Given the description of an element on the screen output the (x, y) to click on. 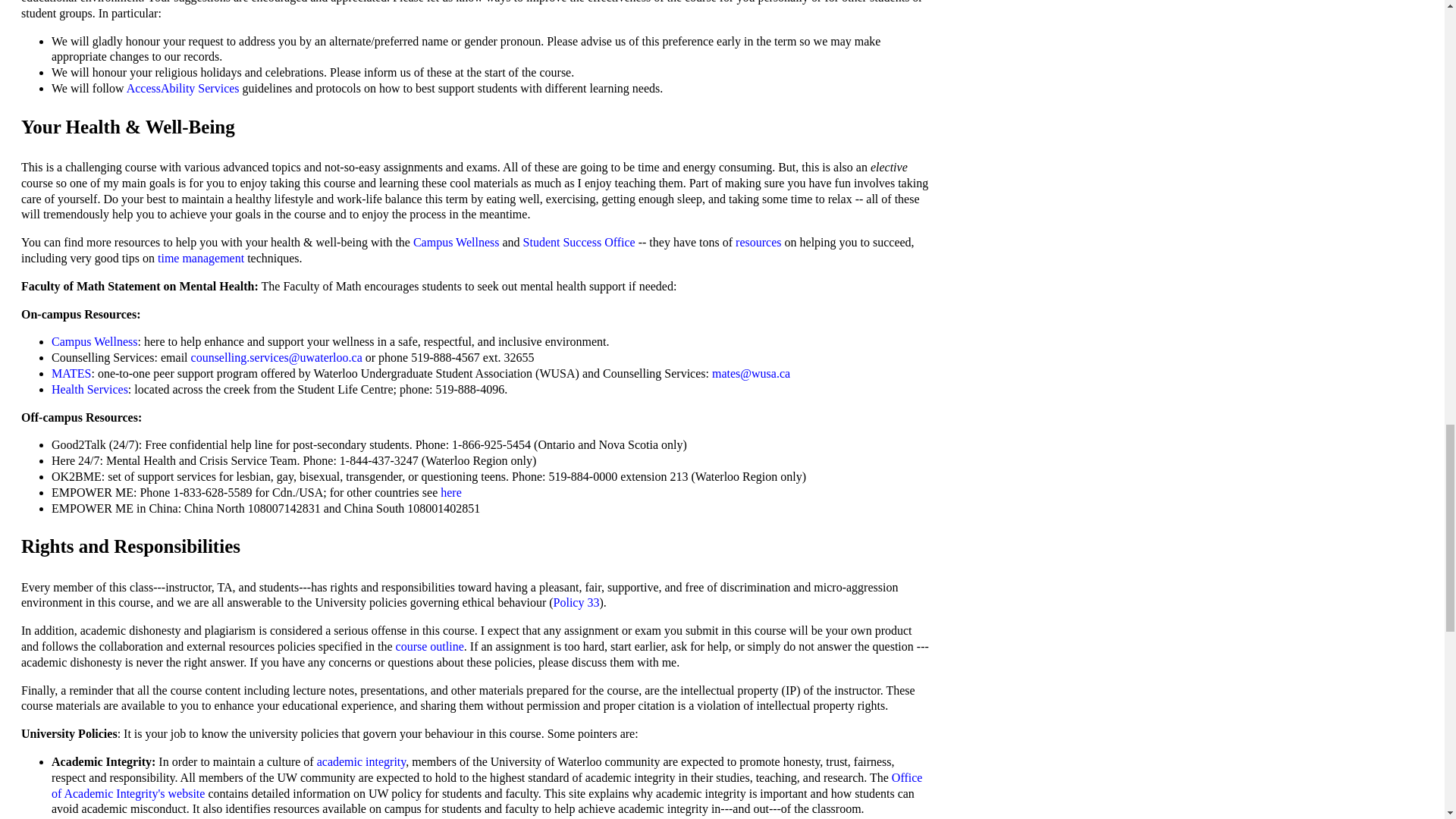
Office of Academic Integrity's website (485, 785)
academic integrity (361, 761)
Health Services (89, 389)
resources (757, 241)
time management (200, 257)
Campus Wellness (94, 341)
course outline (430, 645)
here (451, 492)
MATES (70, 373)
Campus Wellness (456, 241)
Student Success Office (578, 241)
Policy 33 (576, 602)
AccessAbility Services (183, 88)
